Given the description of an element on the screen output the (x, y) to click on. 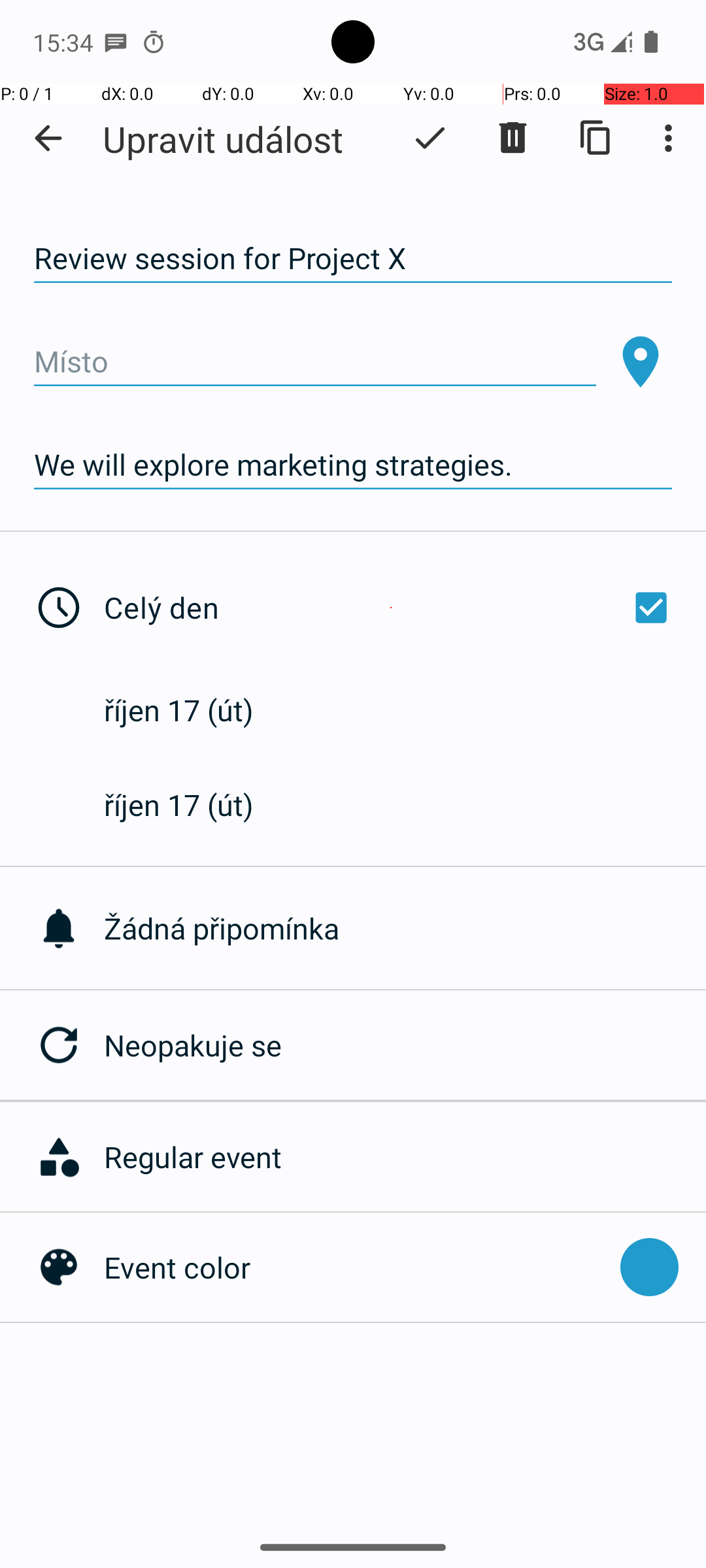
Upravit událost Element type: android.widget.TextView (222, 138)
Uložit Element type: android.widget.Button (429, 137)
Smazat Element type: android.widget.Button (512, 137)
Zkopírovat událost Element type: android.widget.Button (595, 137)
Místo Element type: android.widget.EditText (314, 361)
We will explore marketing strategies. Element type: android.widget.EditText (352, 465)
říjen 17 (út) Element type: android.widget.TextView (192, 709)
Žádná připomínka Element type: android.widget.TextView (404, 927)
Neopakuje se Element type: android.widget.TextView (404, 1044)
Celý den Element type: android.widget.CheckBox (390, 607)
